Given the description of an element on the screen output the (x, y) to click on. 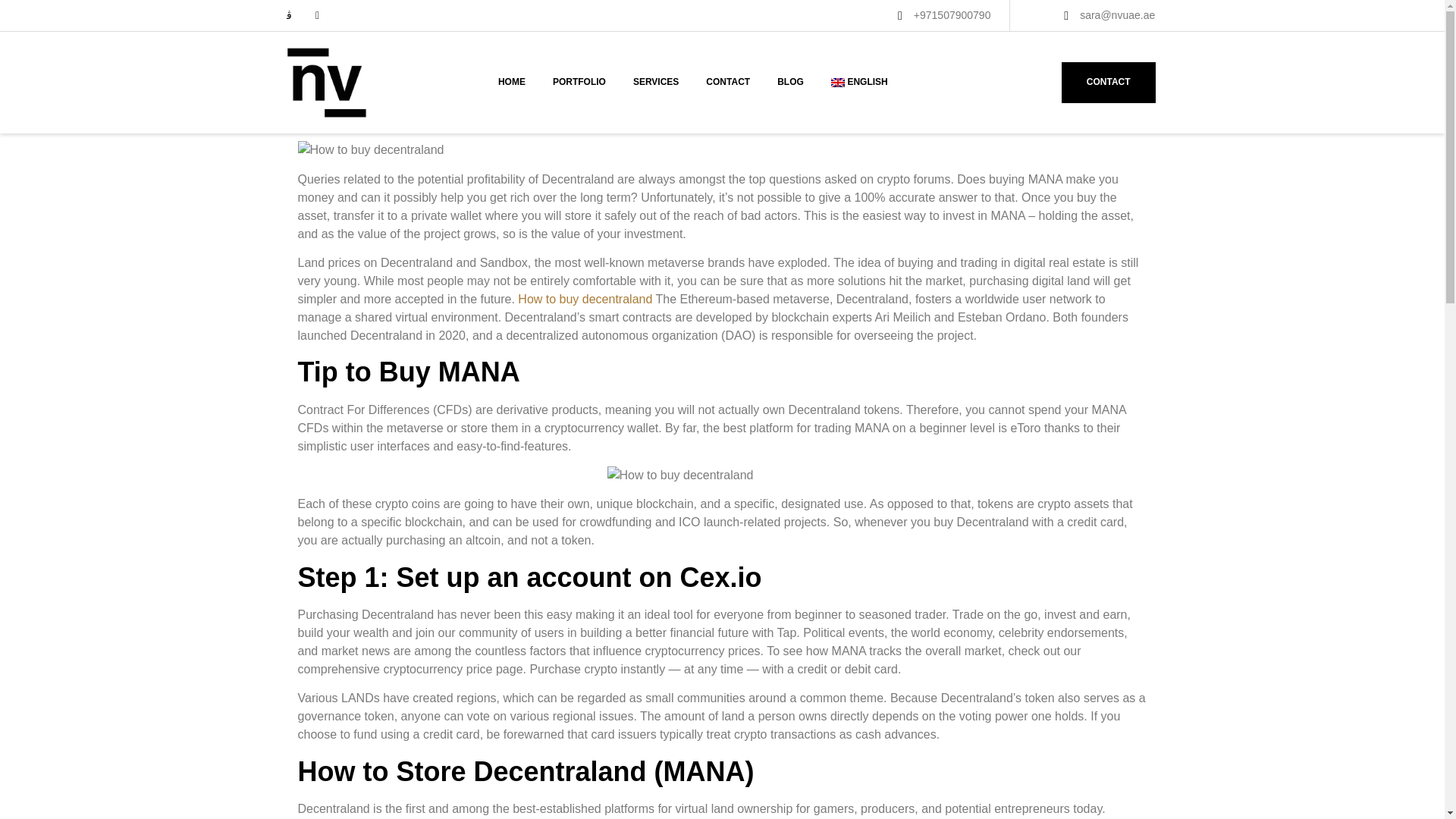
BLOG (789, 82)
CONTACT (727, 82)
PORTFOLIO (579, 82)
ENGLISH (858, 82)
HOME (511, 82)
How to buy decentraland (585, 298)
English (858, 82)
CONTACT (1108, 82)
SERVICES (656, 82)
